Given the description of an element on the screen output the (x, y) to click on. 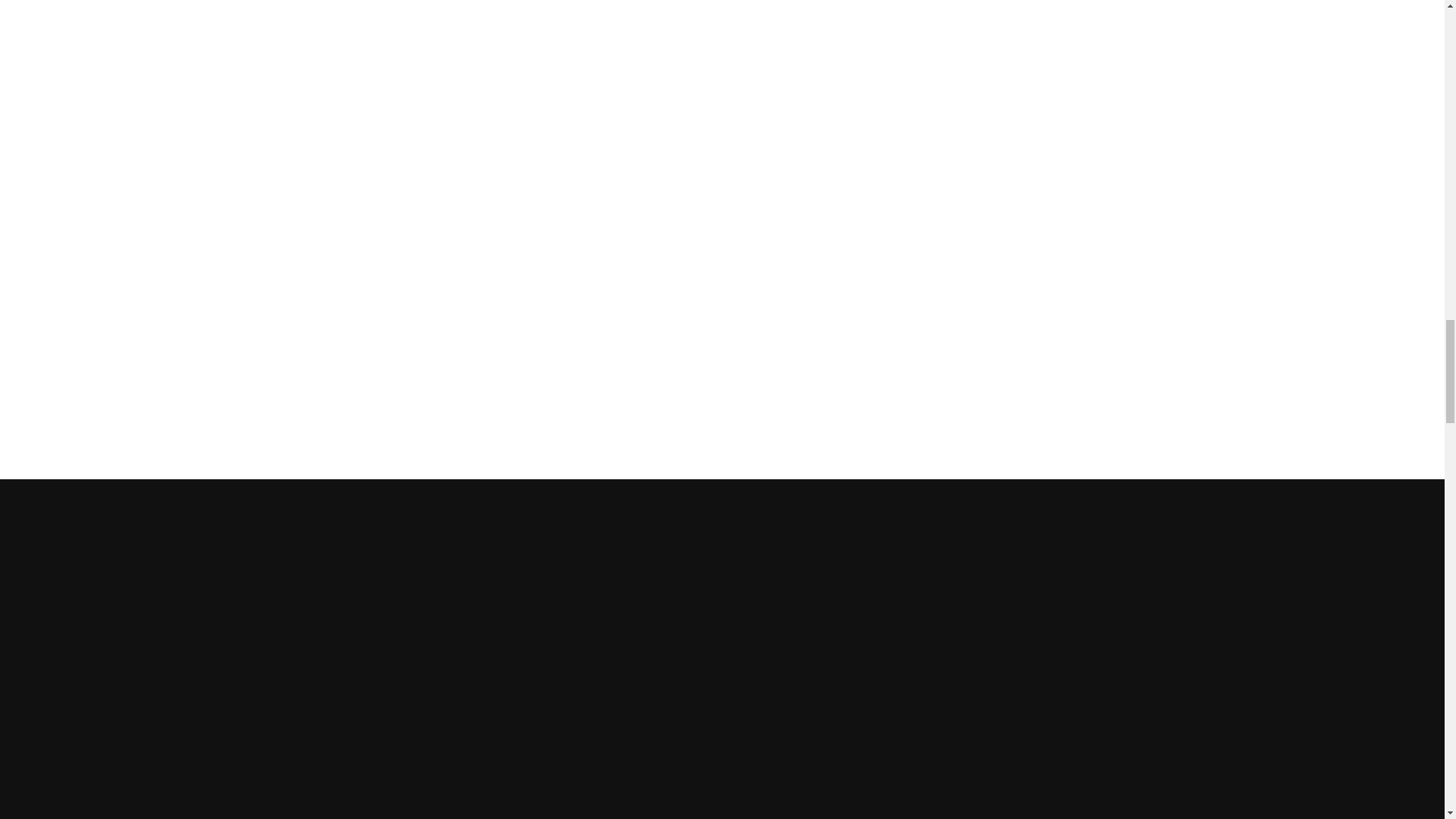
YouTube video player (721, 17)
